Given the description of an element on the screen output the (x, y) to click on. 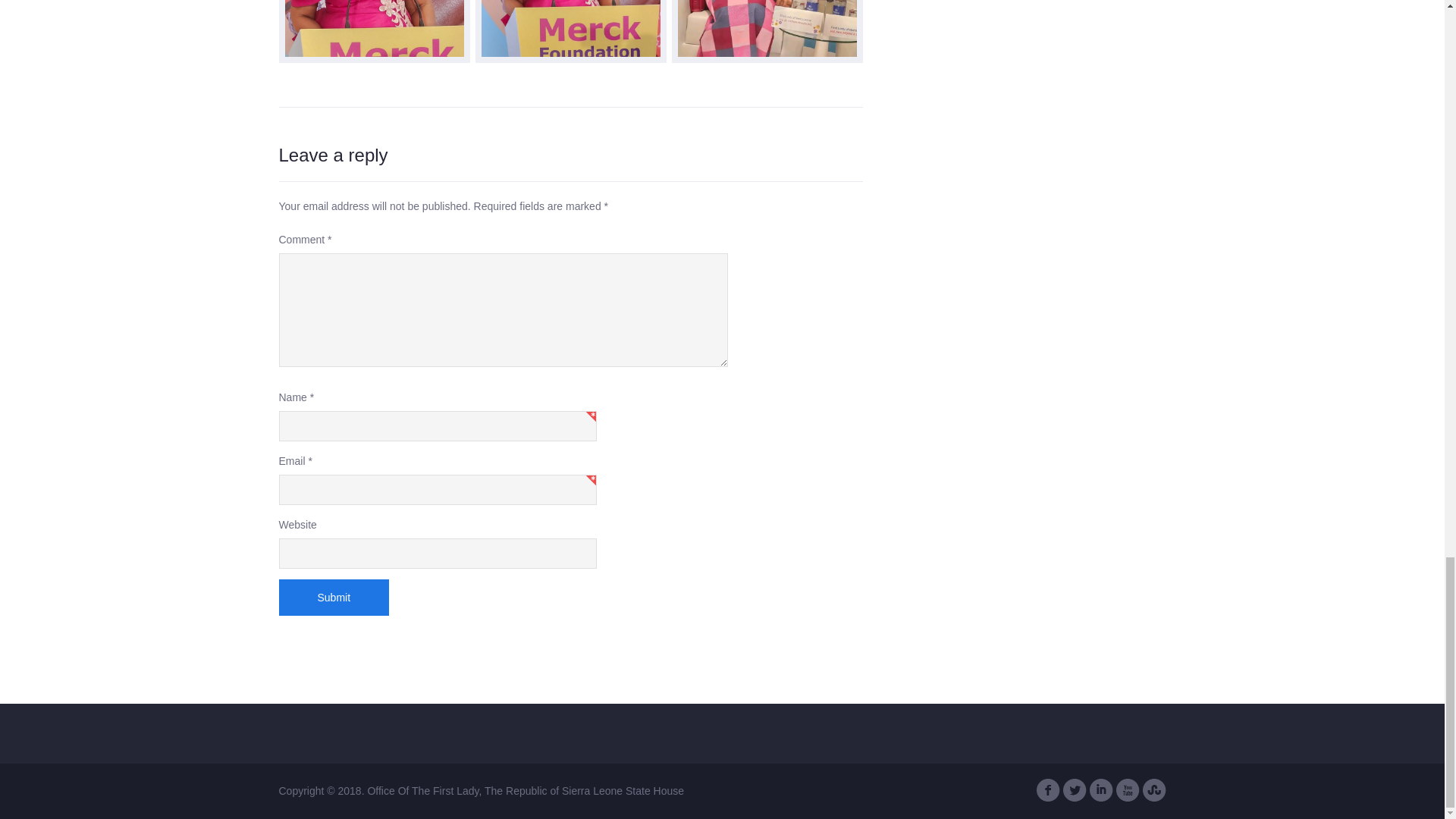
Submit (334, 597)
Submit (334, 597)
